Given the description of an element on the screen output the (x, y) to click on. 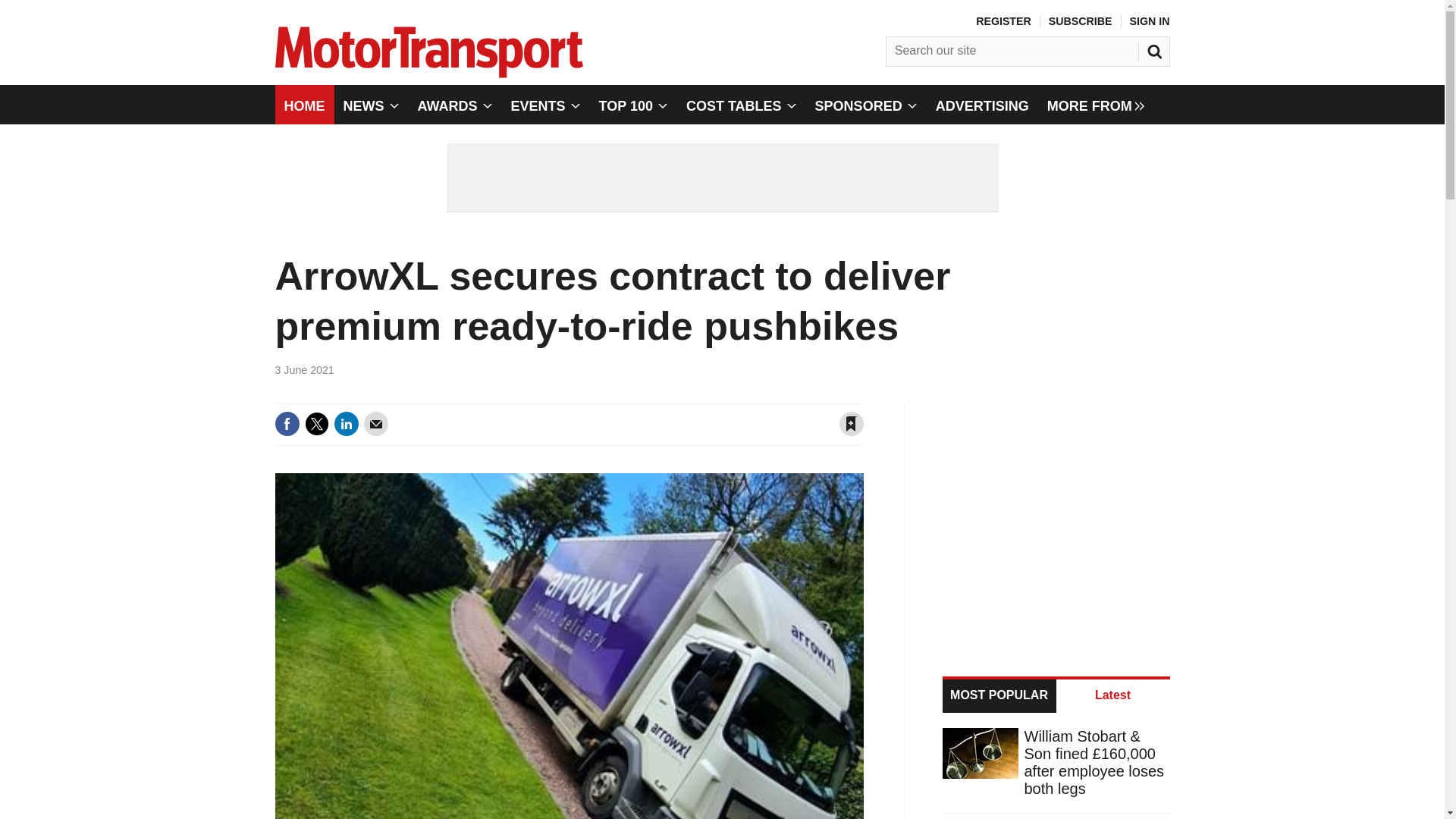
Share this on Twitter (316, 422)
Share this on Linked in (345, 422)
SIGN IN (1149, 21)
REGISTER (1002, 21)
3rd party ad content (1056, 520)
3rd party ad content (721, 177)
Email this article (376, 422)
SEARCH (1156, 48)
SUBSCRIBE (1080, 21)
Share this on Facebook (286, 422)
Site name (428, 73)
